Given the description of an element on the screen output the (x, y) to click on. 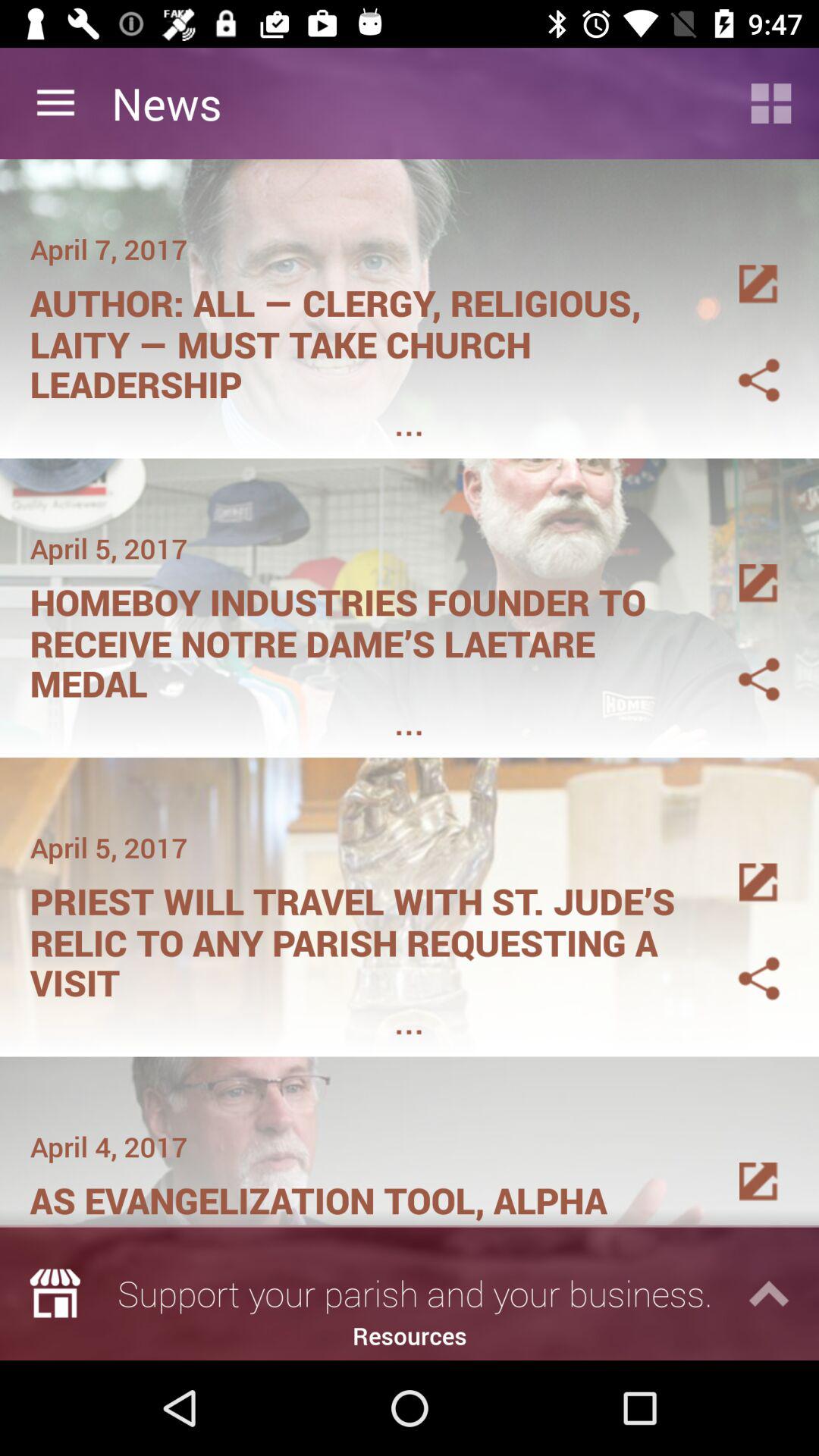
share element (740, 661)
